Given the description of an element on the screen output the (x, y) to click on. 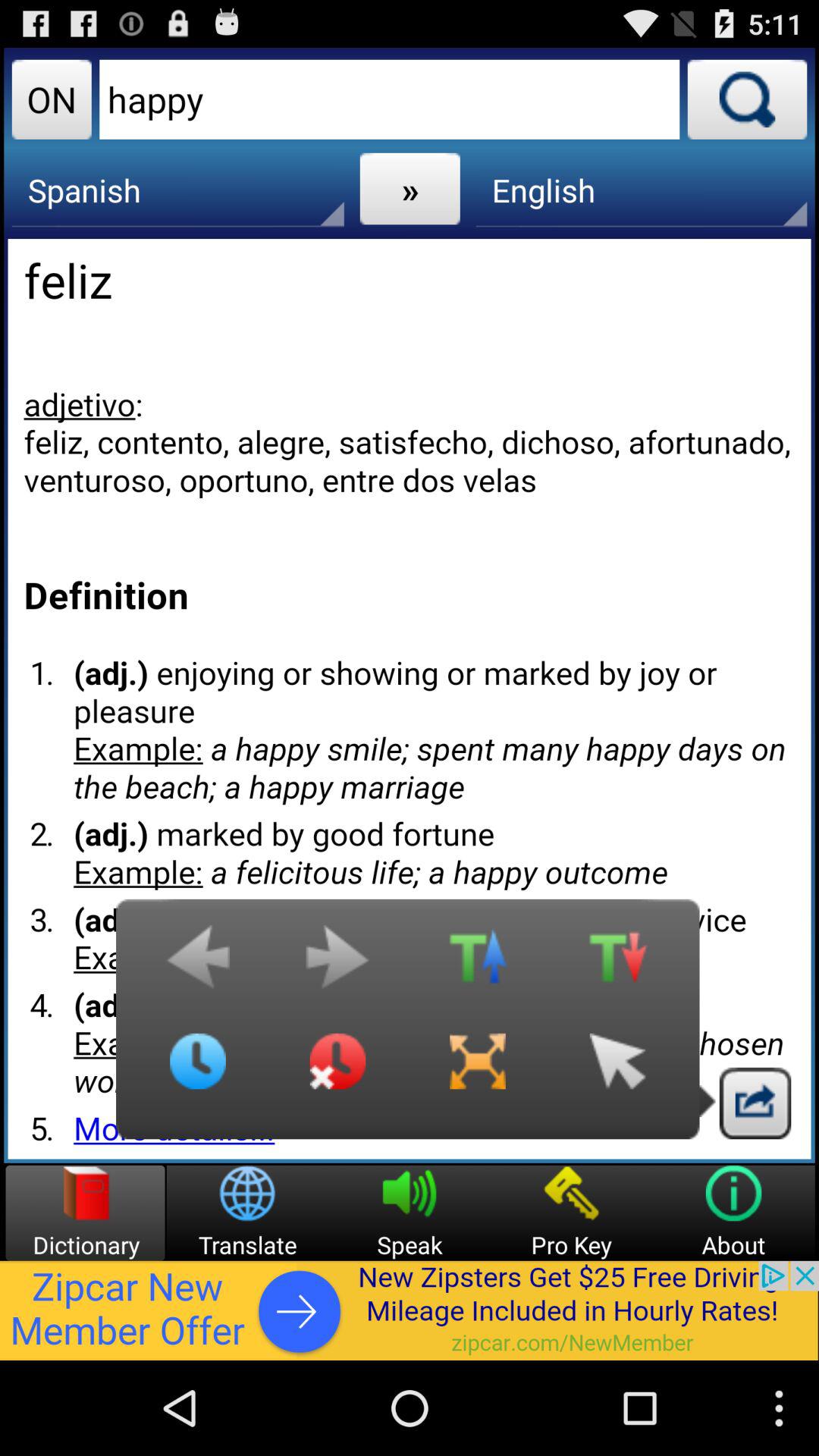
go to next (337, 964)
